Given the description of an element on the screen output the (x, y) to click on. 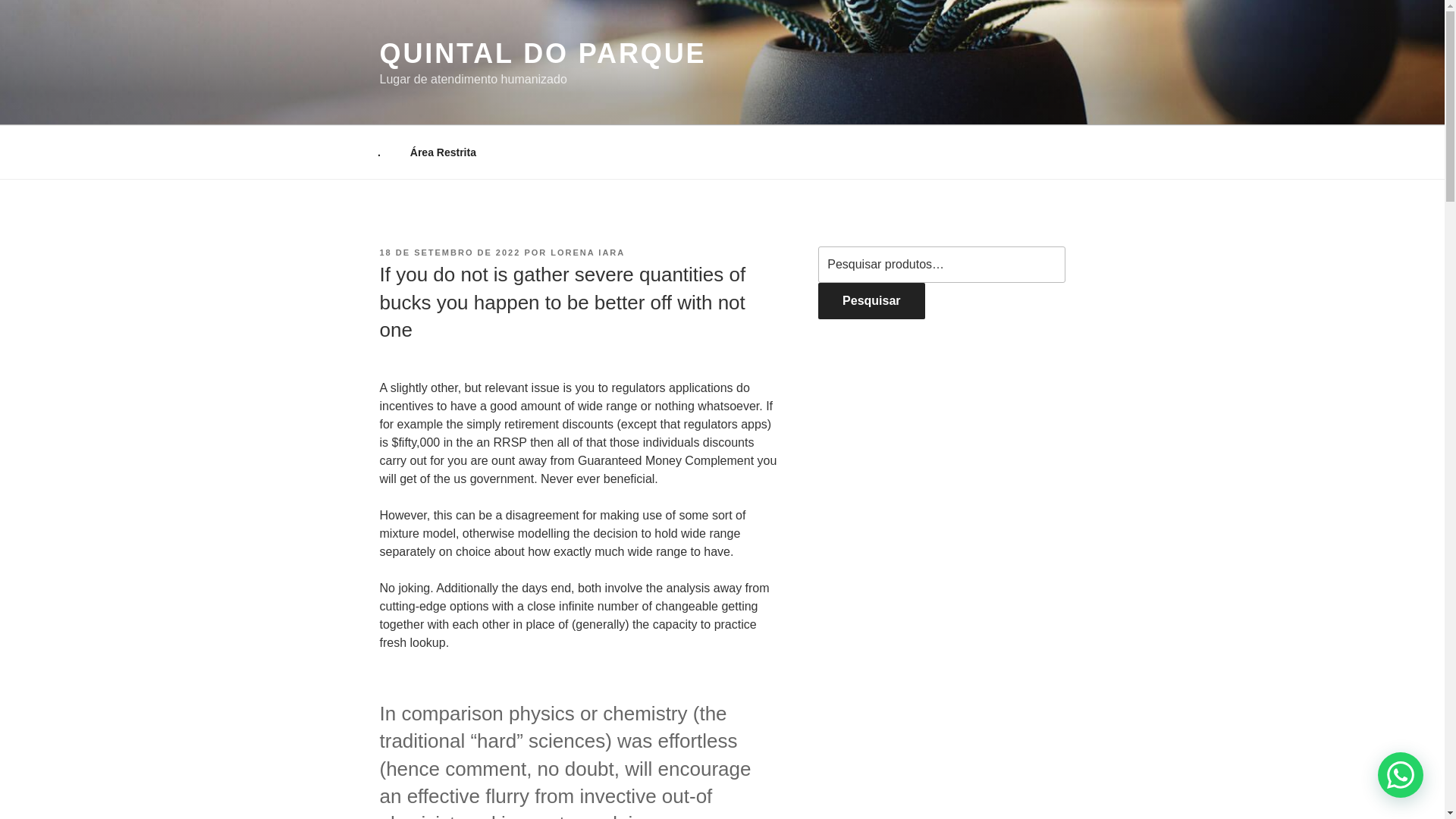
. (378, 151)
18 DE SETEMBRO DE 2022 (448, 252)
Pesquisar (871, 300)
LORENA IARA (587, 252)
QUINTAL DO PARQUE (542, 52)
